Given the description of an element on the screen output the (x, y) to click on. 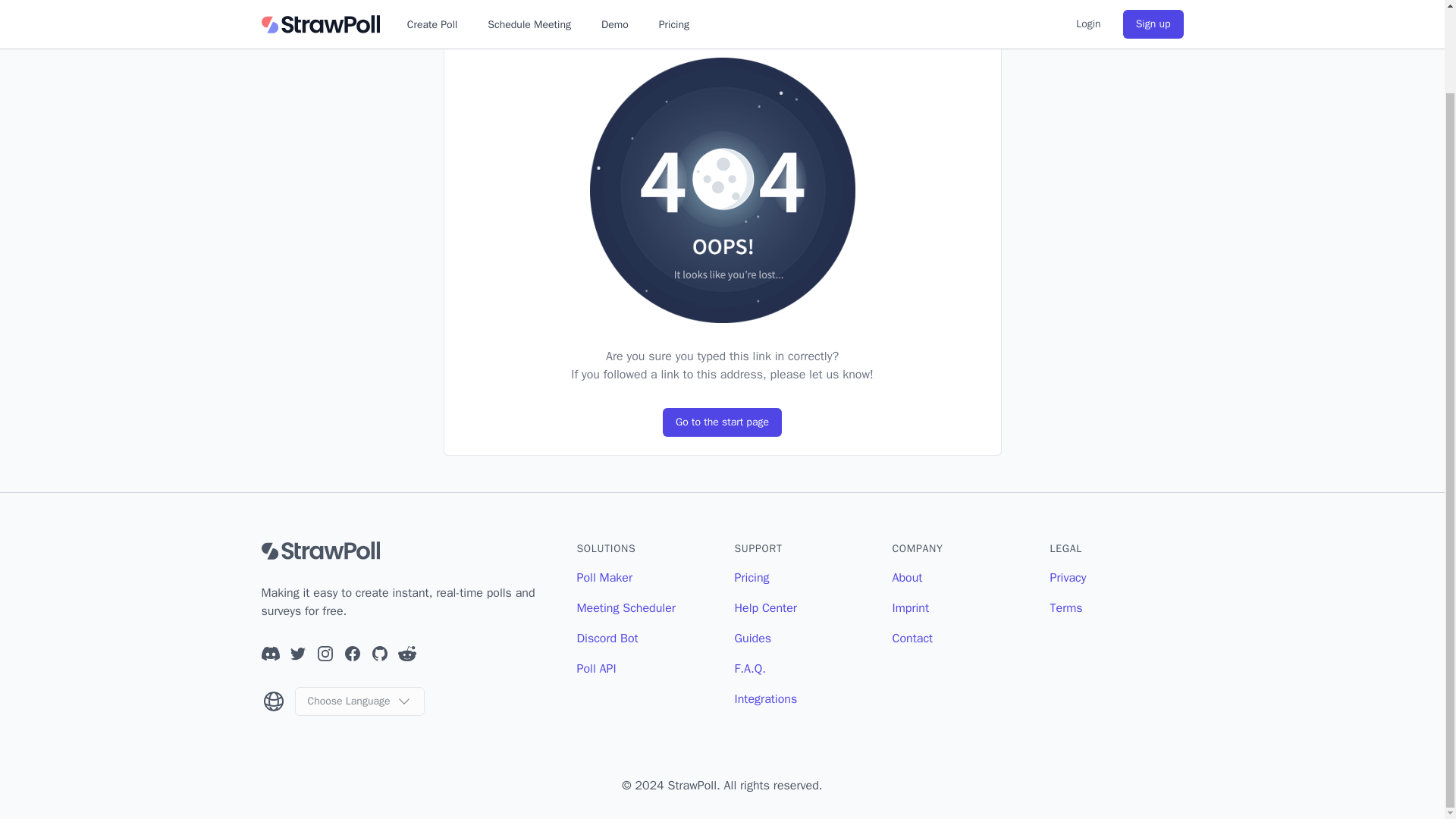
Instagram (324, 653)
GitHub (378, 653)
Poll Maker (603, 577)
Discord Bot (606, 638)
Choose Language (358, 701)
Reddit (405, 653)
Pricing (750, 577)
Go to the start page (721, 421)
Twitter (296, 653)
Meeting Scheduler (625, 607)
